Given the description of an element on the screen output the (x, y) to click on. 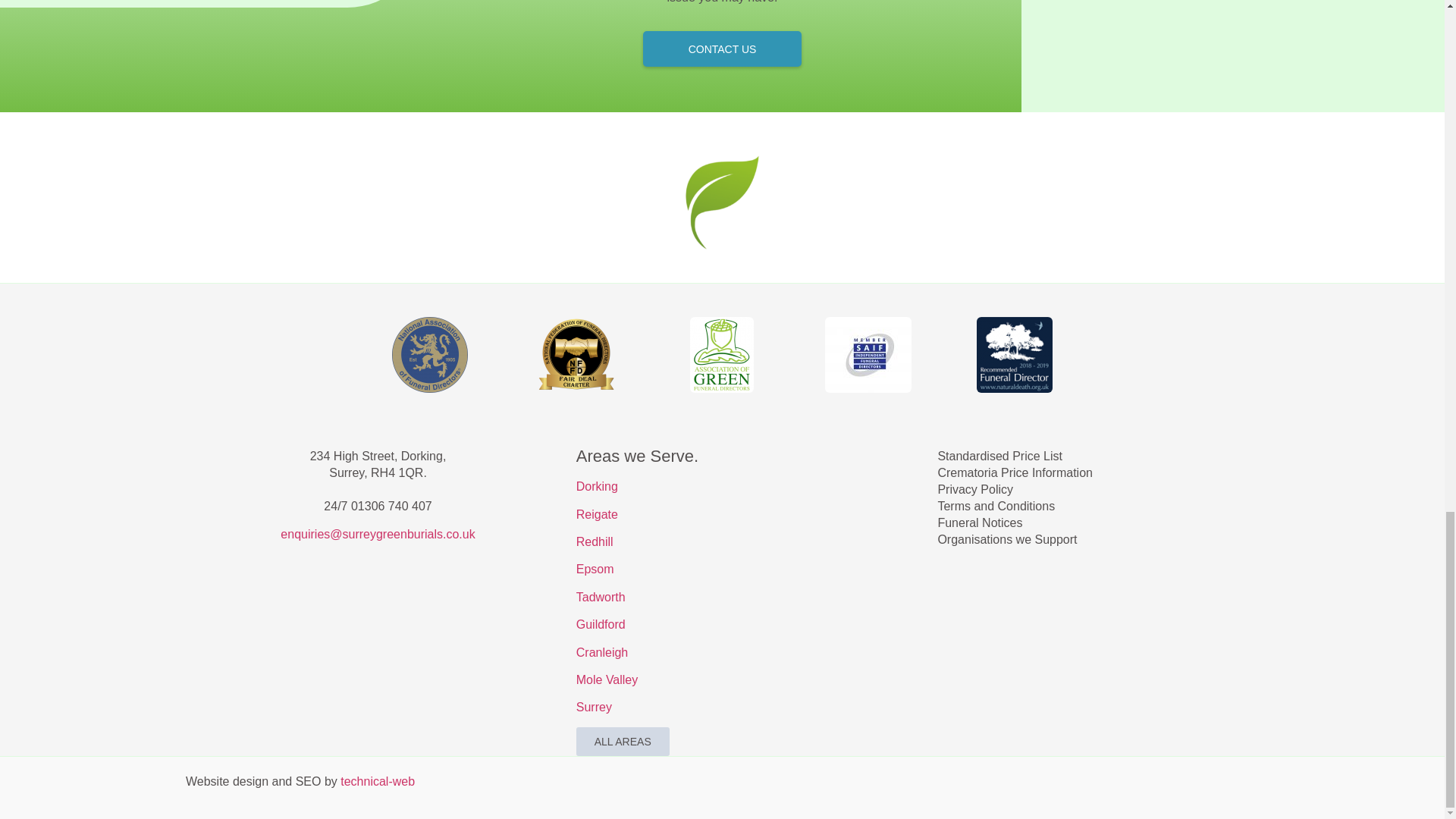
S A I F (868, 354)
N F F D (575, 354)
National Association Funeral Directors (429, 354)
Recommended-Funeral-Director-NDC (1014, 354)
